Given the description of an element on the screen output the (x, y) to click on. 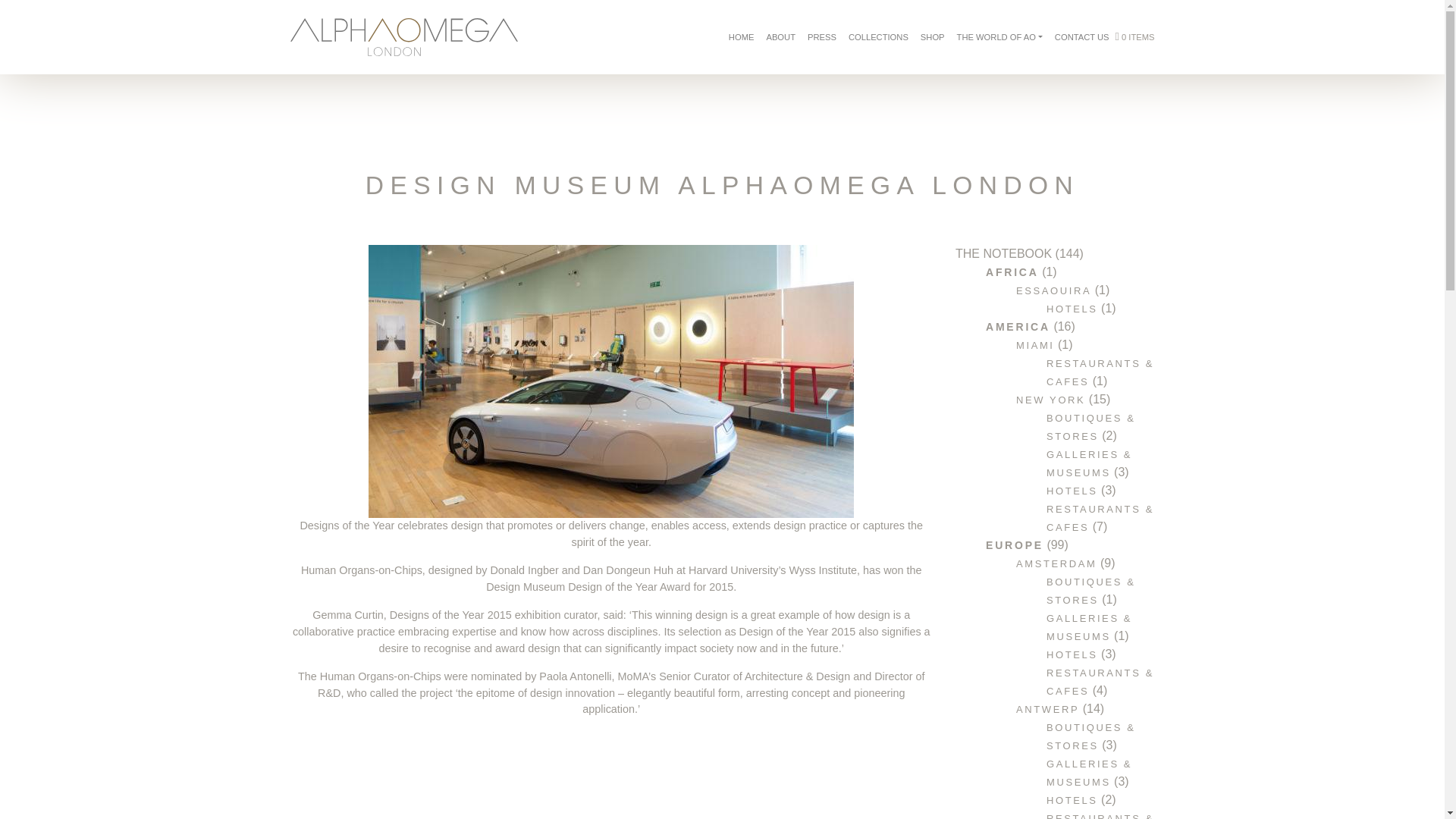
NEW YORK (1050, 399)
SHOP (932, 37)
COLLECTIONS (878, 37)
Start shopping (1134, 36)
PRESS (822, 37)
THE NOTEBOOK (1003, 253)
About (781, 37)
THE WORLD OF AO (999, 37)
AMERICA (1017, 326)
Home (741, 37)
EUROPE (1014, 544)
ABOUT (781, 37)
HOTELS (1071, 308)
Collections (878, 37)
MIAMI (1035, 345)
